Given the description of an element on the screen output the (x, y) to click on. 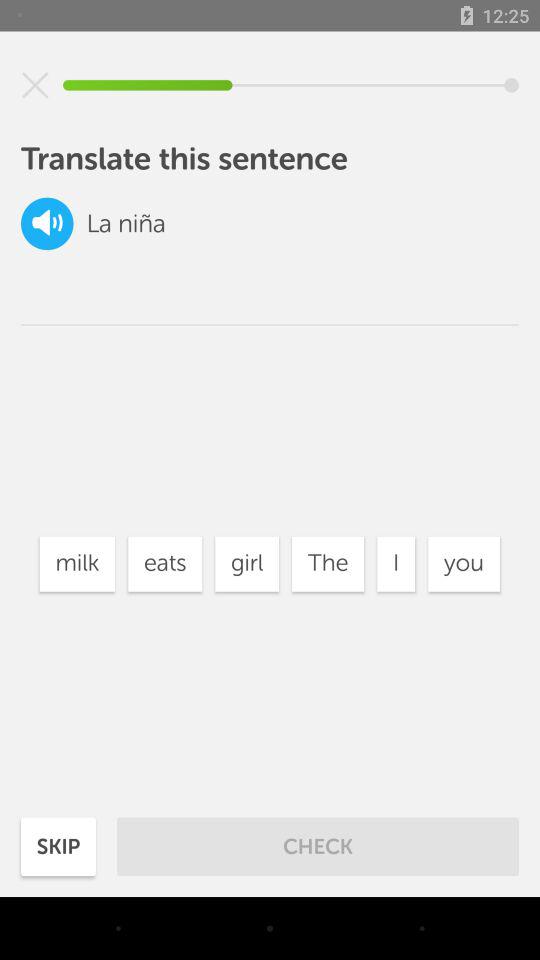
launch icon next to the i (463, 563)
